Given the description of an element on the screen output the (x, y) to click on. 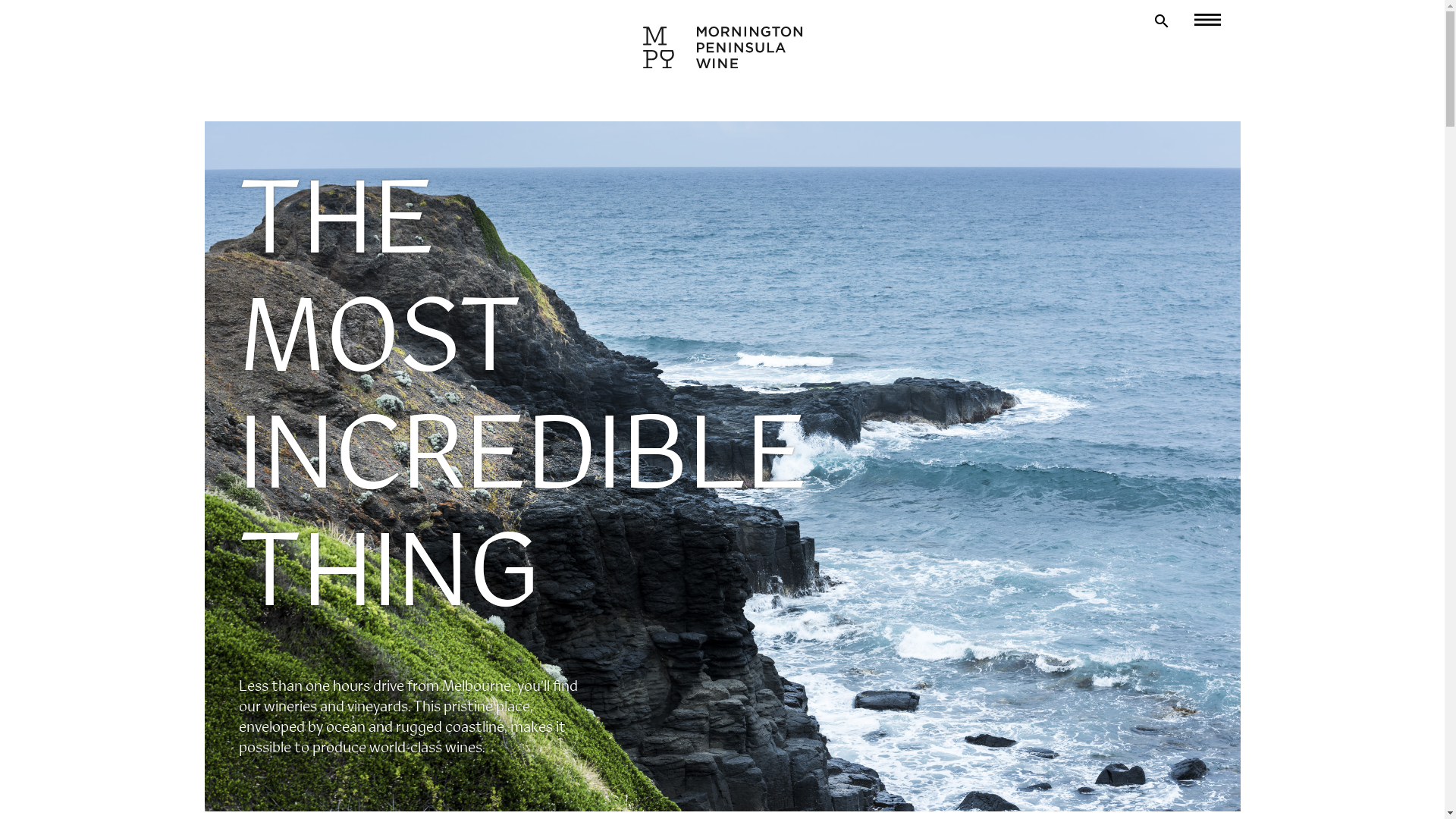
MPW_Brand_Ideogram_Logotype_Mono Element type: text (722, 47)
Toggle navigation Element type: text (1197, 19)
